Given the description of an element on the screen output the (x, y) to click on. 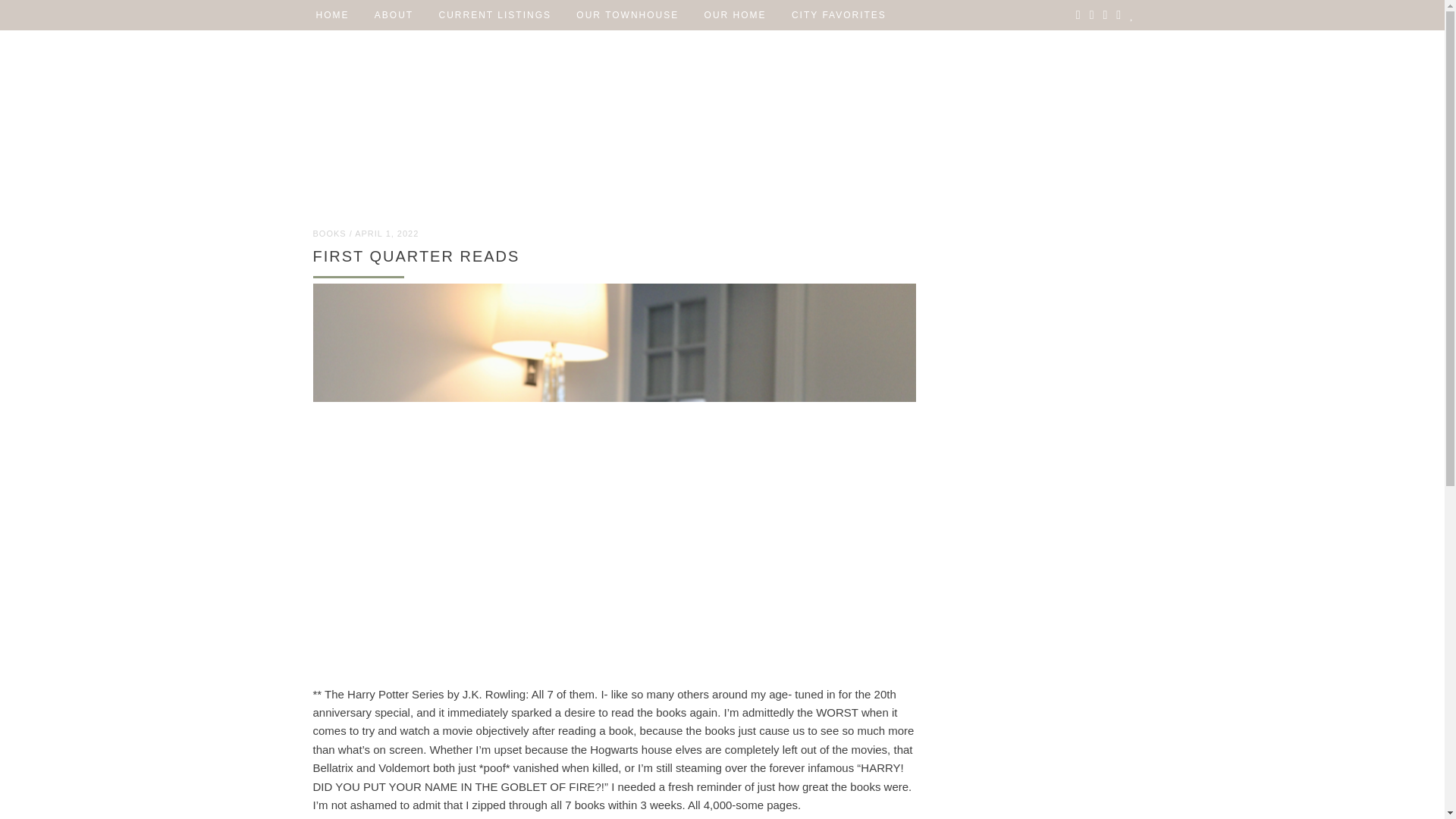
HOME (331, 15)
ABOUT (393, 15)
OUR HOME (735, 15)
Yours Most Sincerely (721, 120)
BOOKS (329, 233)
CITY FAVORITES (838, 15)
CURRENT LISTINGS (495, 15)
OUR TOWNHOUSE (627, 15)
